Given the description of an element on the screen output the (x, y) to click on. 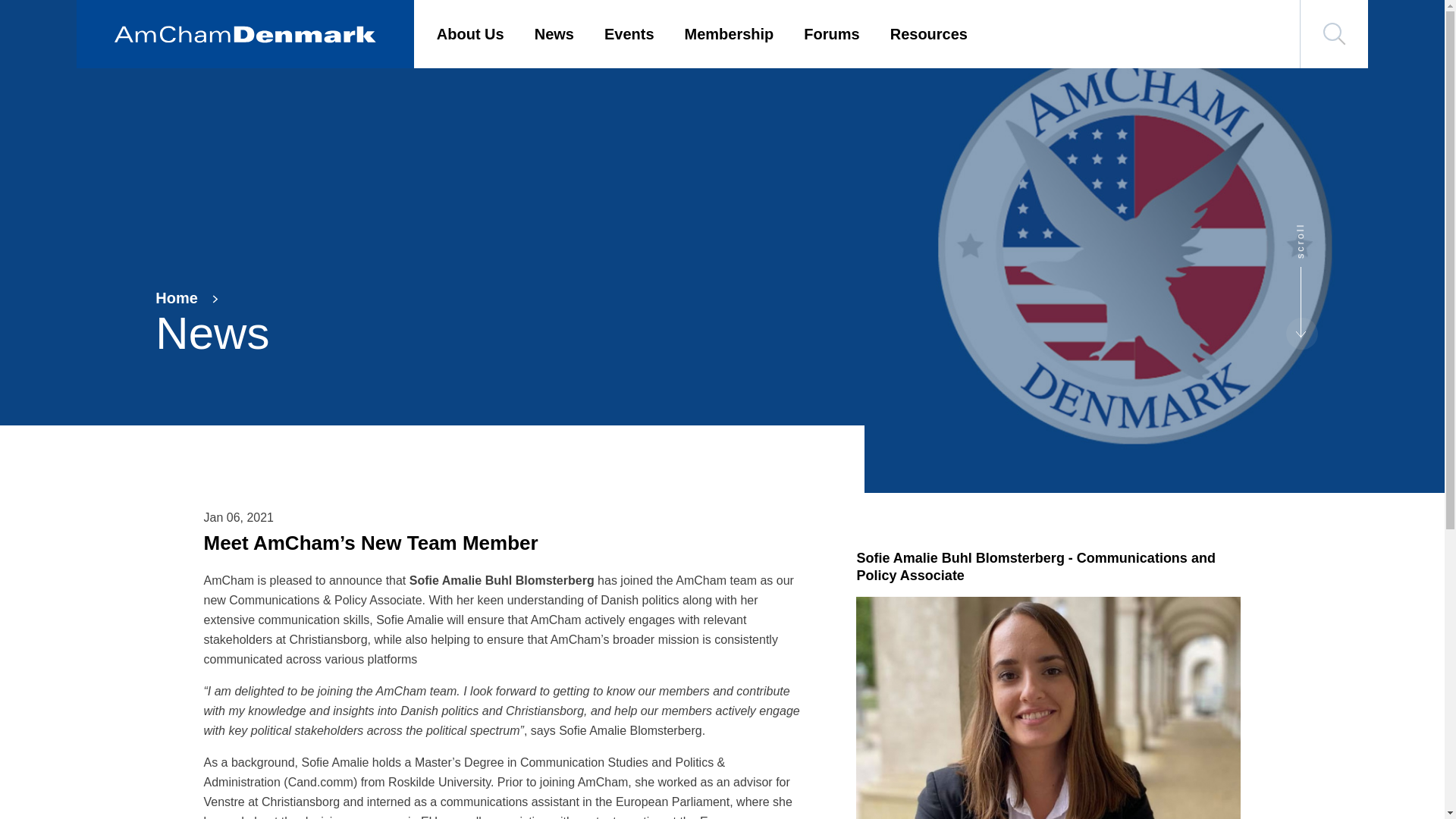
scroll (1312, 227)
About Us (469, 34)
Forums (831, 34)
Events (628, 34)
Membership (729, 34)
News (553, 34)
Resources (928, 34)
